Given the description of an element on the screen output the (x, y) to click on. 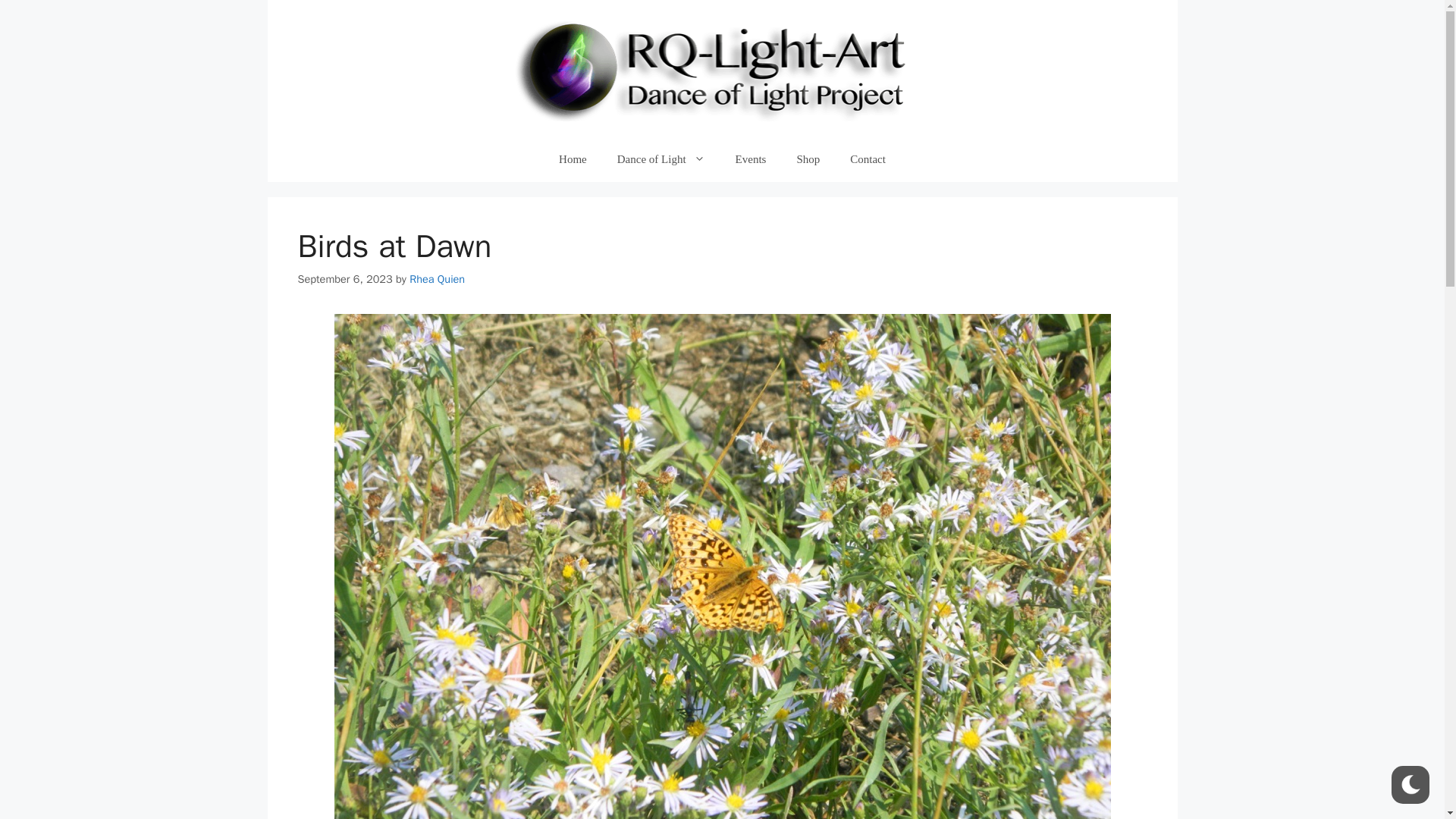
Events (750, 158)
Light Art For Nature (722, 66)
Dance of Light (661, 158)
Rhea Quien (436, 278)
Home (572, 158)
Shop (807, 158)
Light Art For Nature (722, 68)
View all posts by Rhea Quien (436, 278)
Contact (867, 158)
